Given the description of an element on the screen output the (x, y) to click on. 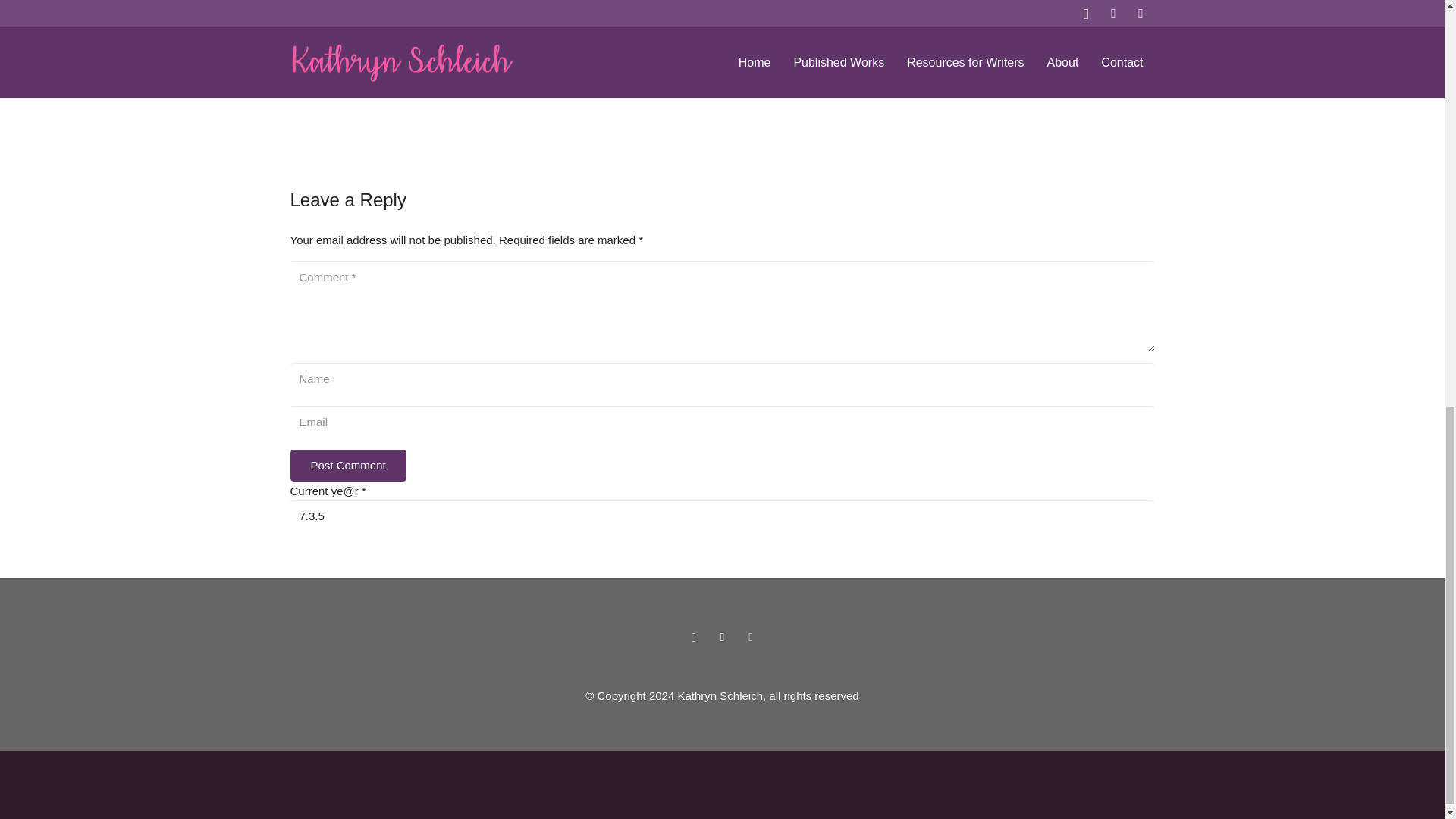
LinkedIn (750, 637)
7.3.5 (721, 516)
Post Comment (347, 465)
Instagram (693, 637)
Facebook (721, 637)
Back to top (1413, 26)
